Given the description of an element on the screen output the (x, y) to click on. 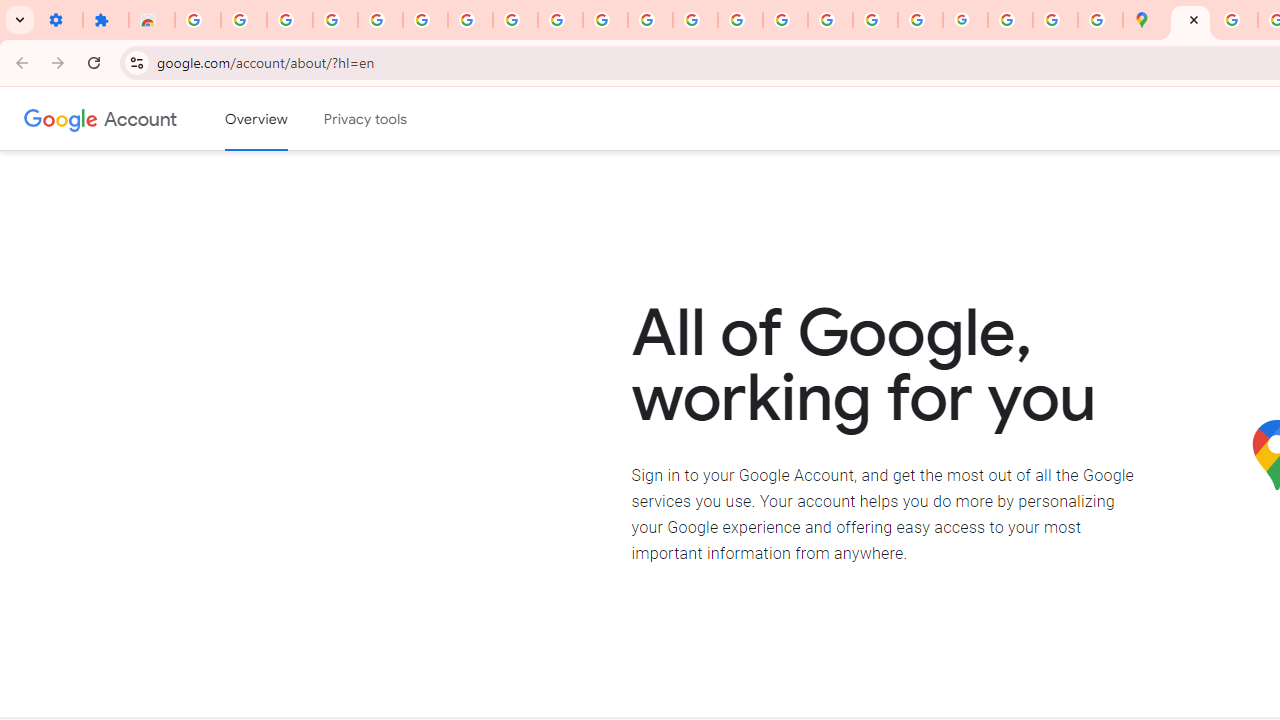
Privacy tools (365, 119)
Create your Google Account (1235, 20)
Google Account overview (256, 119)
Google logo (61, 118)
Extensions (106, 20)
